Given the description of an element on the screen output the (x, y) to click on. 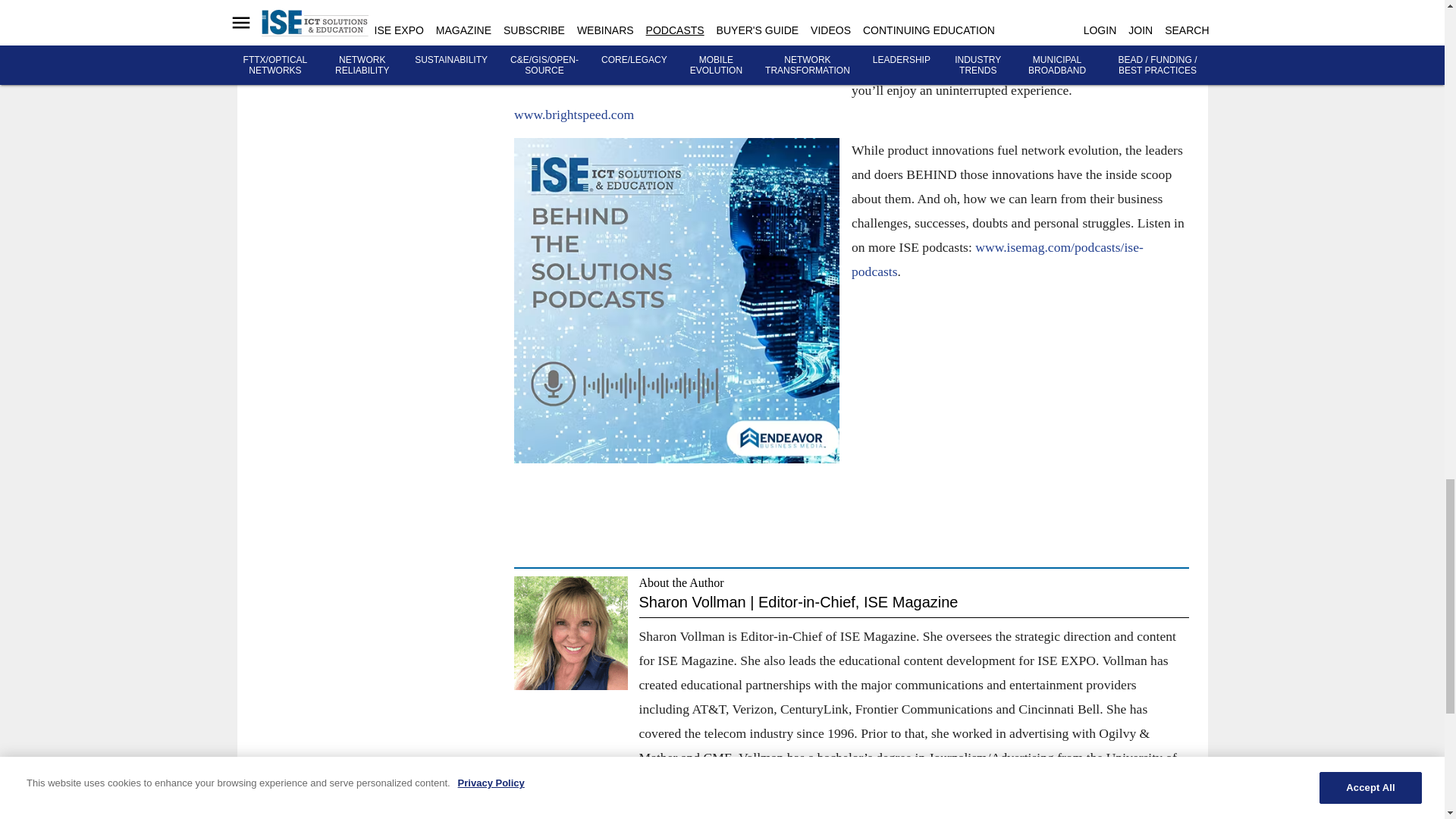
Ise Podcast Tile 05 03 23 (676, 300)
Brightspeed Logo 200x75 (676, 39)
